Given the description of an element on the screen output the (x, y) to click on. 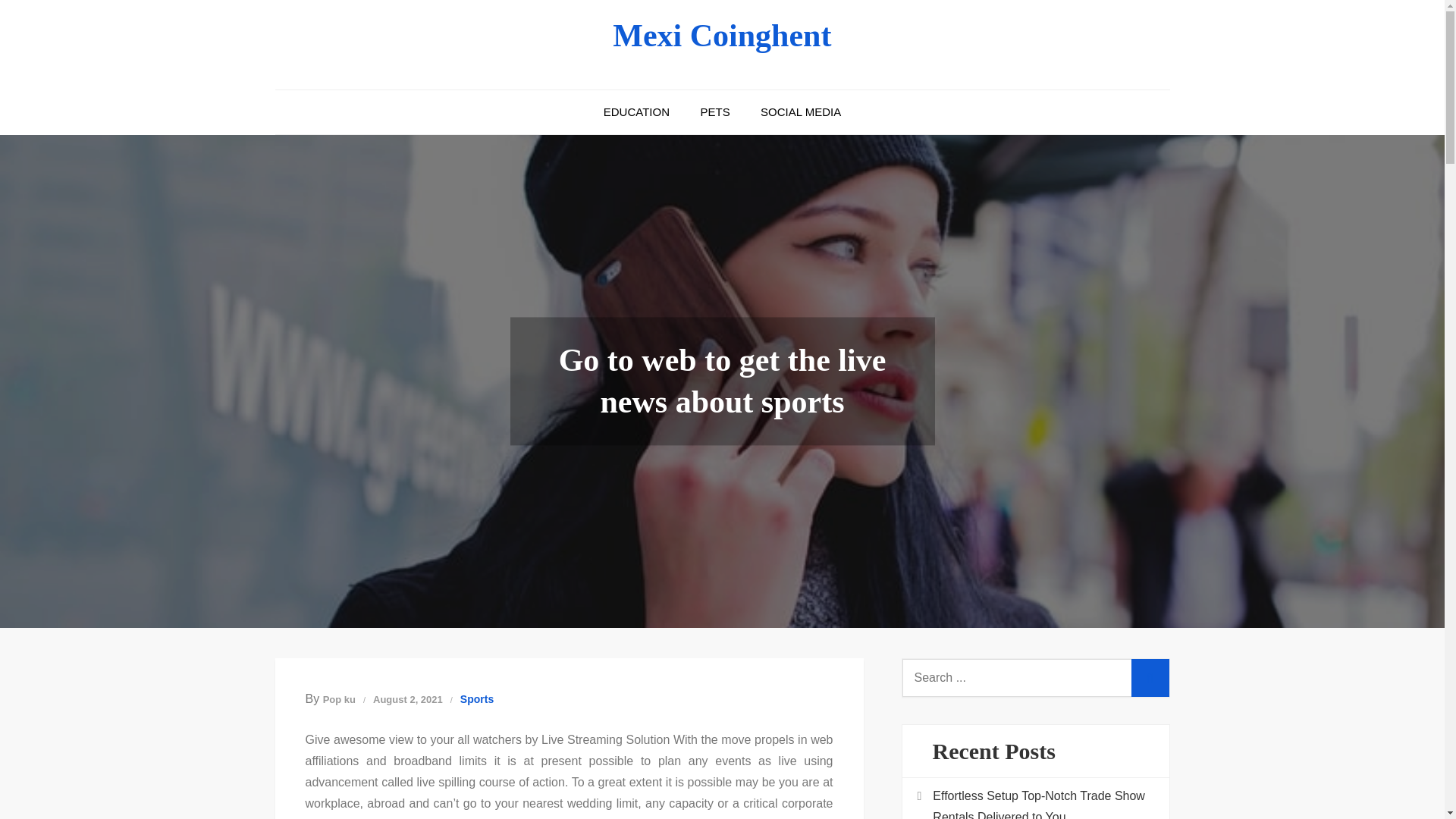
Sports (476, 699)
Search (1150, 677)
Pop ku (339, 699)
Mexi Coinghent (721, 35)
Search for: (1035, 677)
SOCIAL MEDIA (800, 112)
PETS (713, 112)
EDUCATION (635, 112)
August 2, 2021 (407, 699)
